Given the description of an element on the screen output the (x, y) to click on. 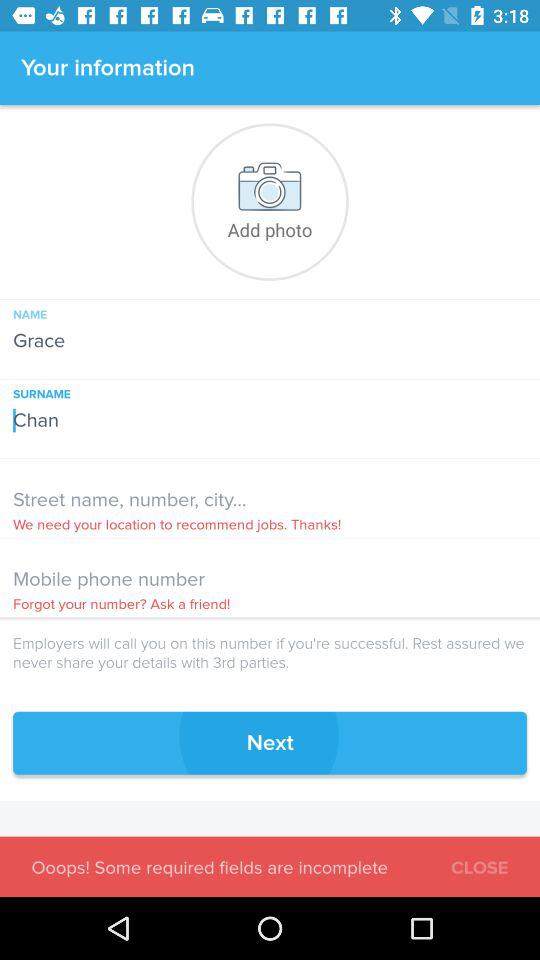
press item below the employers will call item (269, 742)
